Given the description of an element on the screen output the (x, y) to click on. 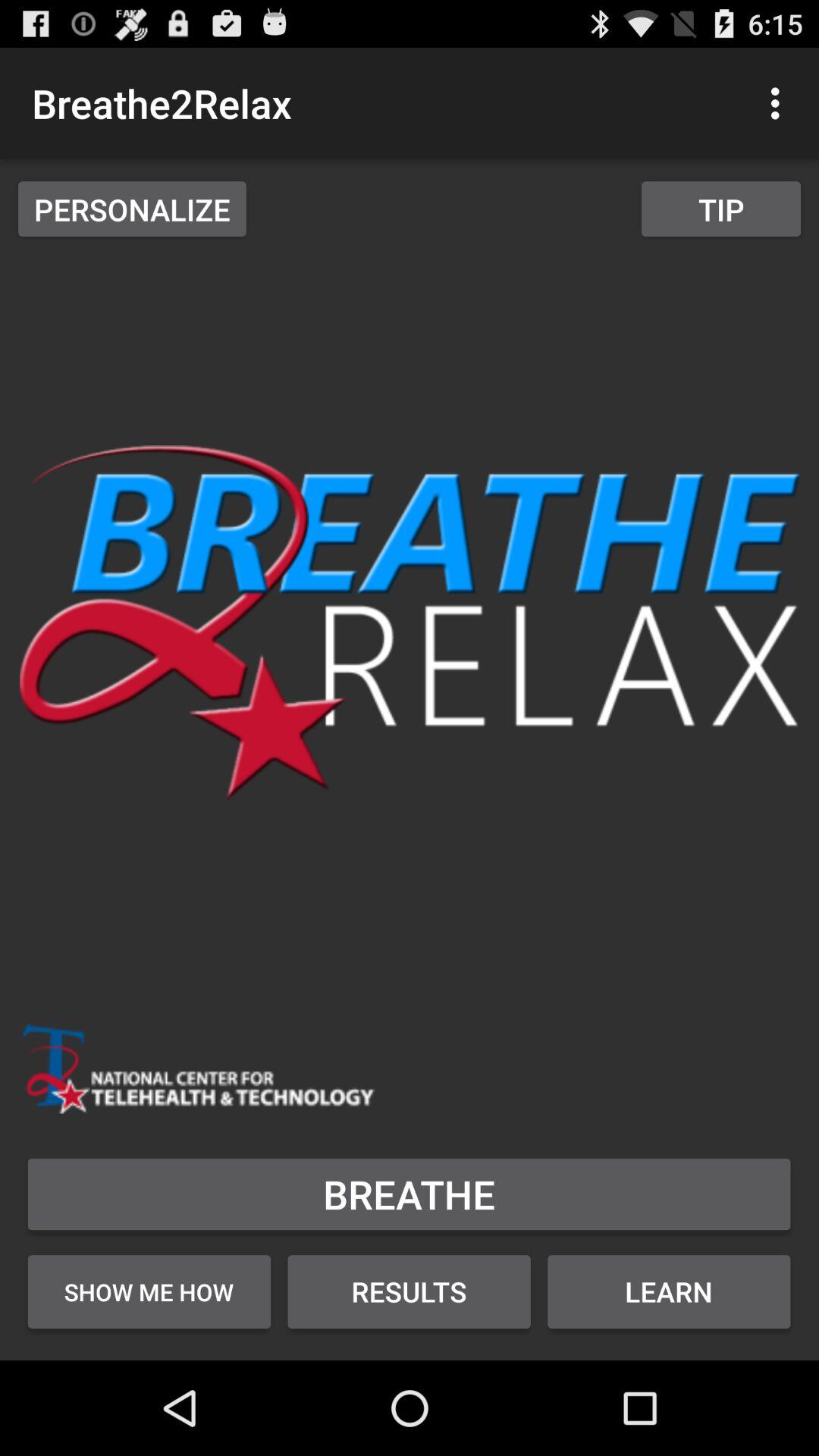
open button next to personalize (720, 208)
